Given the description of an element on the screen output the (x, y) to click on. 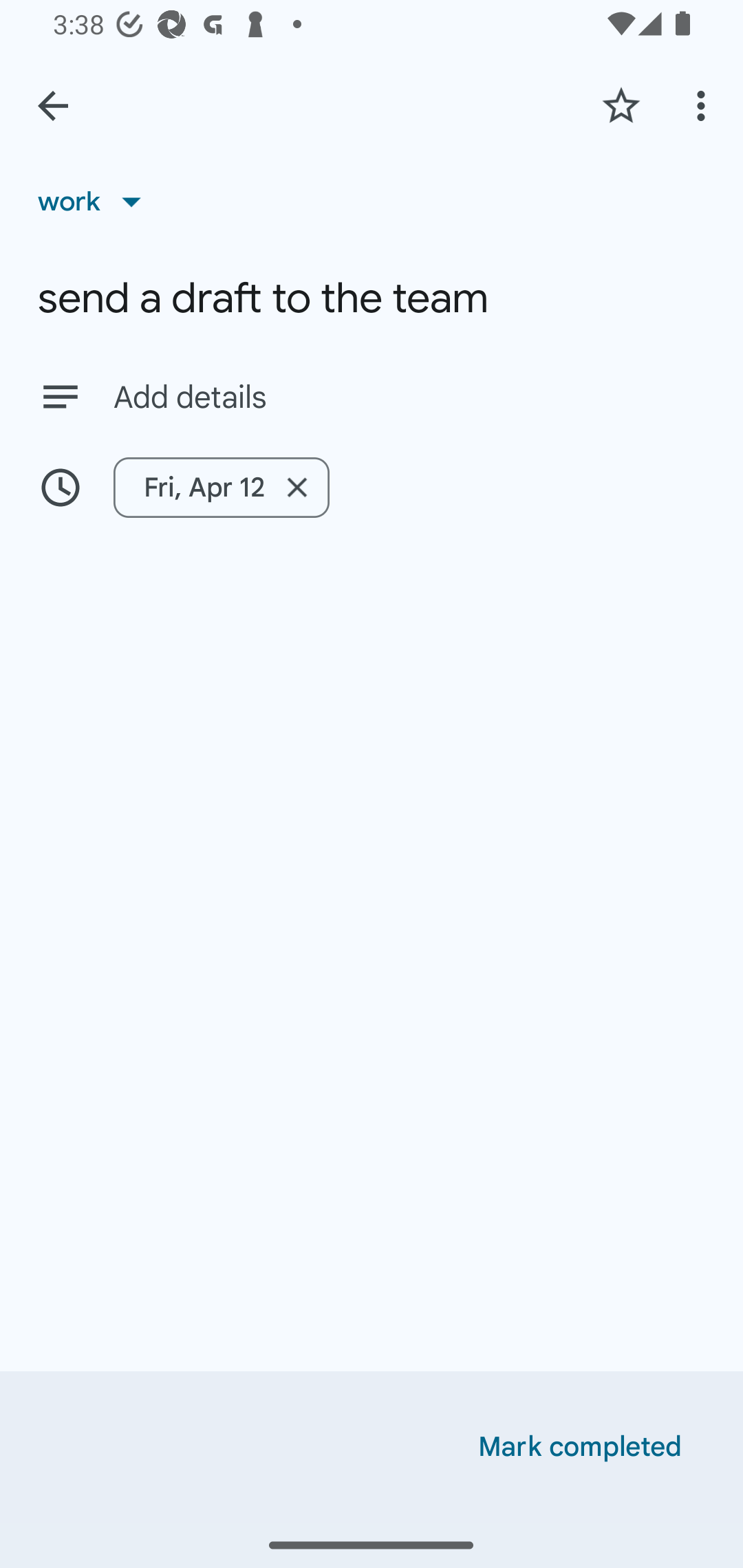
Back (53, 105)
Add star (620, 105)
More options (704, 105)
work List, work selected, 1 of 6 (95, 201)
send a draft to the team (371, 298)
Add details (371, 396)
Add details (409, 397)
Fri, Apr 12 Remove date/time (371, 487)
Fri, Apr 12 Remove date/time (221, 487)
Mark completed (580, 1446)
